Given the description of an element on the screen output the (x, y) to click on. 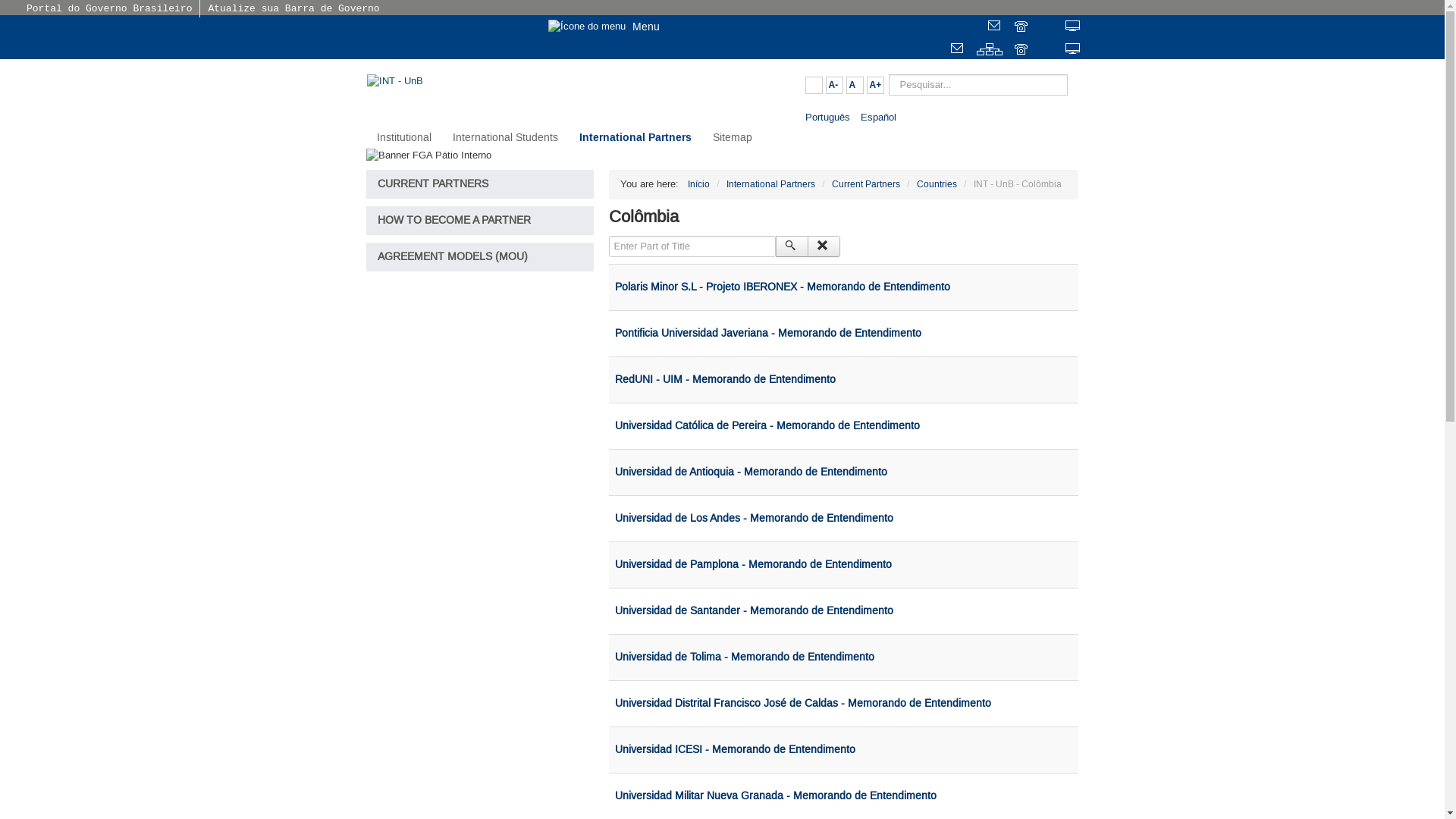
Fala.BR Element type: hover (1047, 50)
Clear Element type: hover (823, 246)
Universidad de Santander - Memorando de Entendimento Element type: text (753, 611)
Pontificia Universidad Javeriana - Memorando de Entendimento Element type: text (767, 333)
Mapa do Site Element type: hover (989, 50)
International Partners Element type: text (770, 184)
Telefones da UnB Element type: hover (1022, 50)
  Element type: text (1022, 50)
Universidad de Antioquia - Memorando de Entendimento Element type: text (750, 472)
RedUNI - UIM - Memorando de Entendimento Element type: text (724, 379)
Webmail Element type: hover (996, 27)
Search Element type: hover (791, 246)
  Element type: text (958, 50)
Fala.BR Element type: hover (1047, 27)
Countries Element type: text (936, 184)
Telefones da UnB Element type: hover (1022, 27)
Portal do Governo Brasileiro Element type: text (108, 8)
A+ Element type: text (874, 85)
Sistemas Element type: hover (1073, 50)
International Students Element type: text (504, 137)
Universidad de Los Andes - Memorando de Entendimento Element type: text (753, 518)
International Partners Element type: text (635, 137)
  Element type: text (996, 27)
Sistemas Element type: hover (1073, 27)
Menu Element type: text (613, 25)
Universidad ICESI - Memorando de Entendimento Element type: text (734, 749)
HOW TO BECOME A PARTNER Element type: text (479, 220)
Atualize sua Barra de Governo Element type: text (293, 8)
AGREEMENT MODELS (MOU) Element type: text (479, 256)
  Element type: text (1047, 27)
Ir para o Portal da UnB Element type: hover (448, 26)
CURRENT PARTNERS Element type: text (479, 183)
Universidad de Pamplona - Memorando de Entendimento Element type: text (752, 564)
Current Partners Element type: text (865, 184)
  Element type: text (1047, 50)
  Element type: text (989, 50)
  Element type: text (1022, 27)
Sitemap Element type: text (732, 137)
A Element type: text (854, 85)
A- Element type: text (833, 85)
  Element type: text (1073, 50)
  Element type: text (1073, 27)
Enter all or part of the title to search for. Element type: hover (691, 246)
Webmail Element type: hover (958, 50)
Universidad de Tolima - Memorando de Entendimento Element type: text (743, 657)
Institutional Element type: text (403, 137)
